Given the description of an element on the screen output the (x, y) to click on. 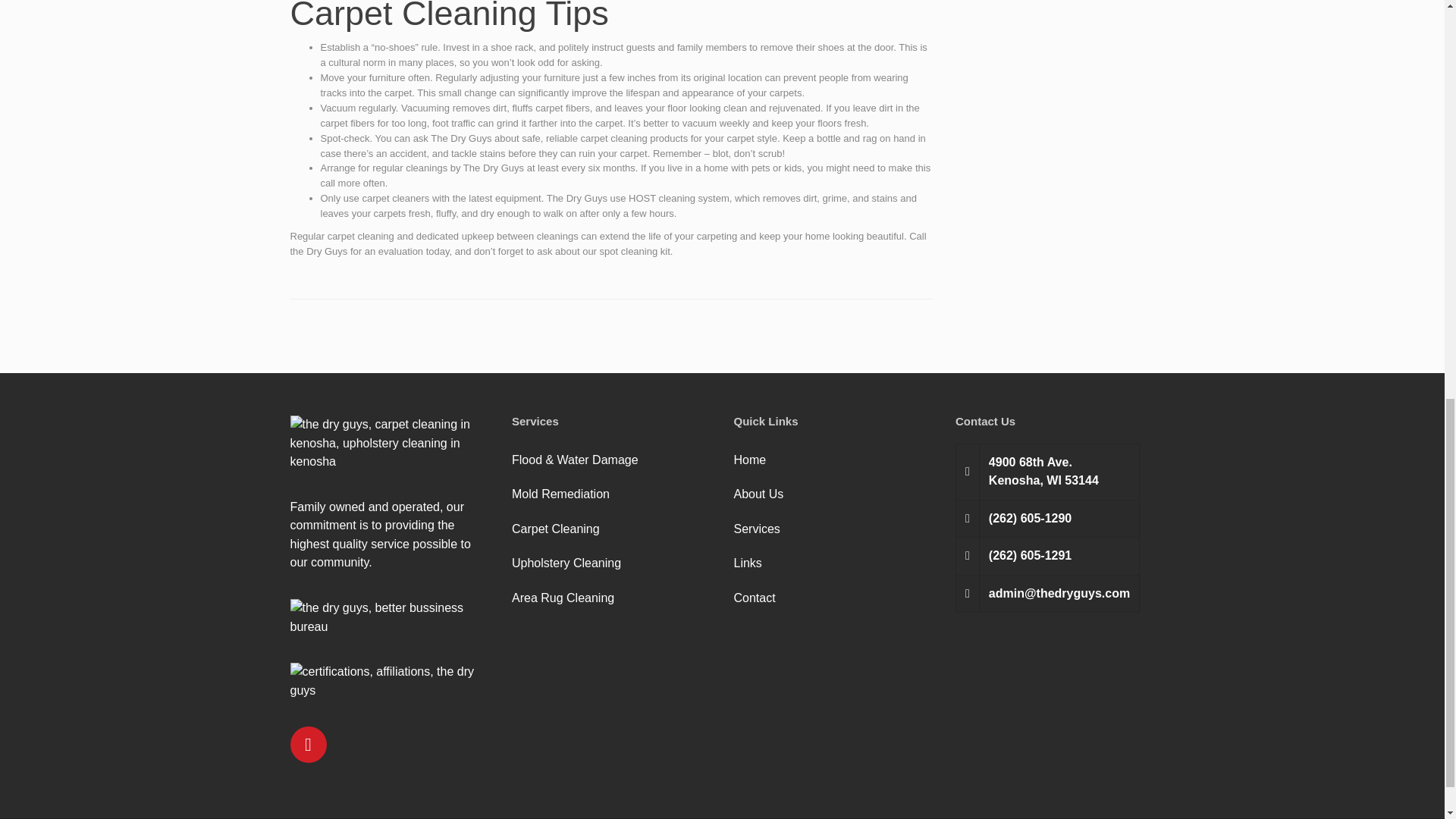
Fax (1046, 556)
Facebook (307, 743)
Phone (1046, 518)
Email (1046, 593)
TDG White logo (389, 443)
Address (1046, 471)
